Given the description of an element on the screen output the (x, y) to click on. 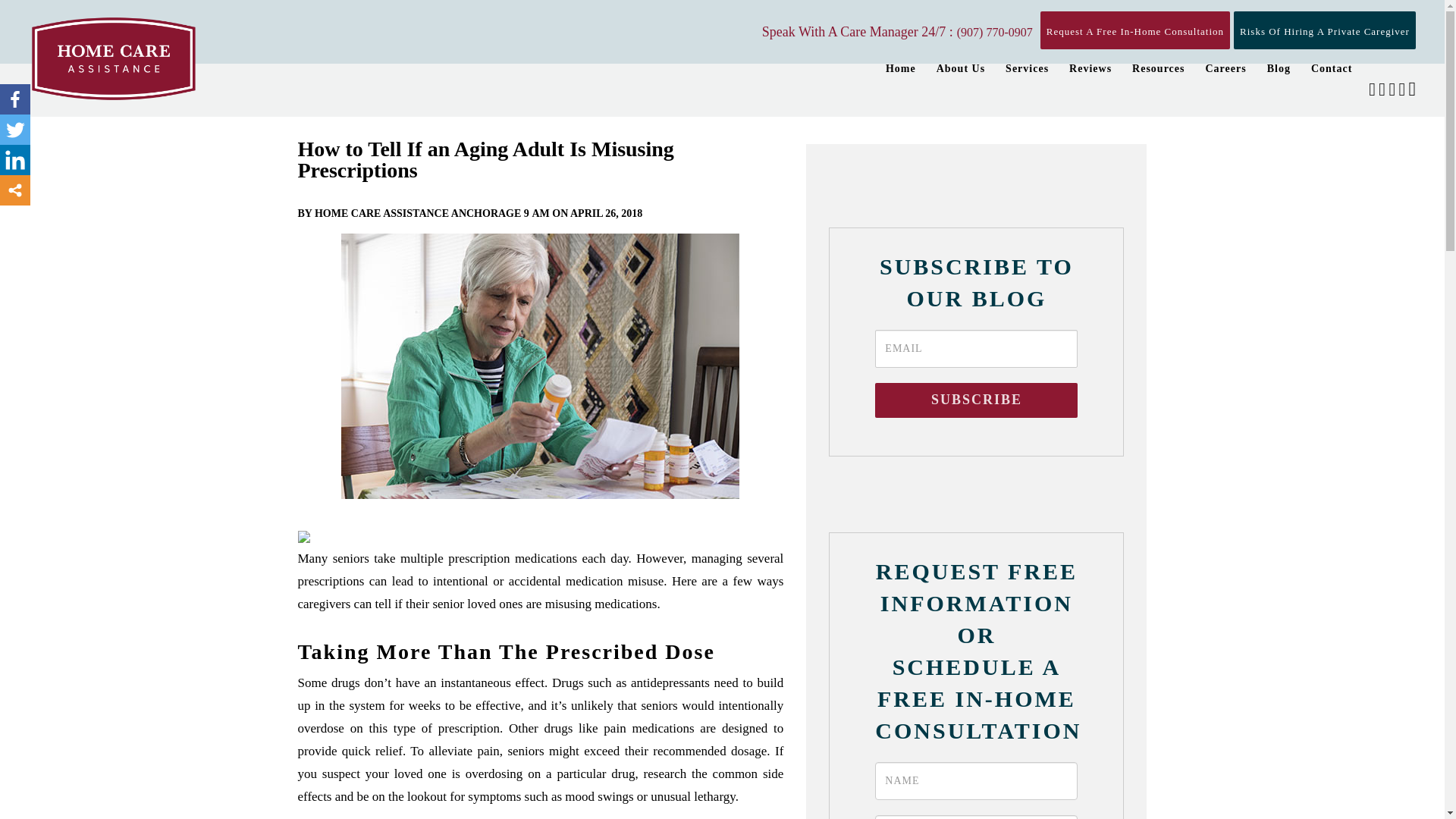
Linkedin (15, 159)
More (15, 190)
Facebook (15, 99)
Reviews (1090, 68)
Home (900, 68)
Subscribe (976, 400)
Services (1027, 68)
Request A Free In-Home Consultation (1135, 30)
Risks Of Hiring A Private Caregiver (1324, 30)
About Us (960, 68)
